Given the description of an element on the screen output the (x, y) to click on. 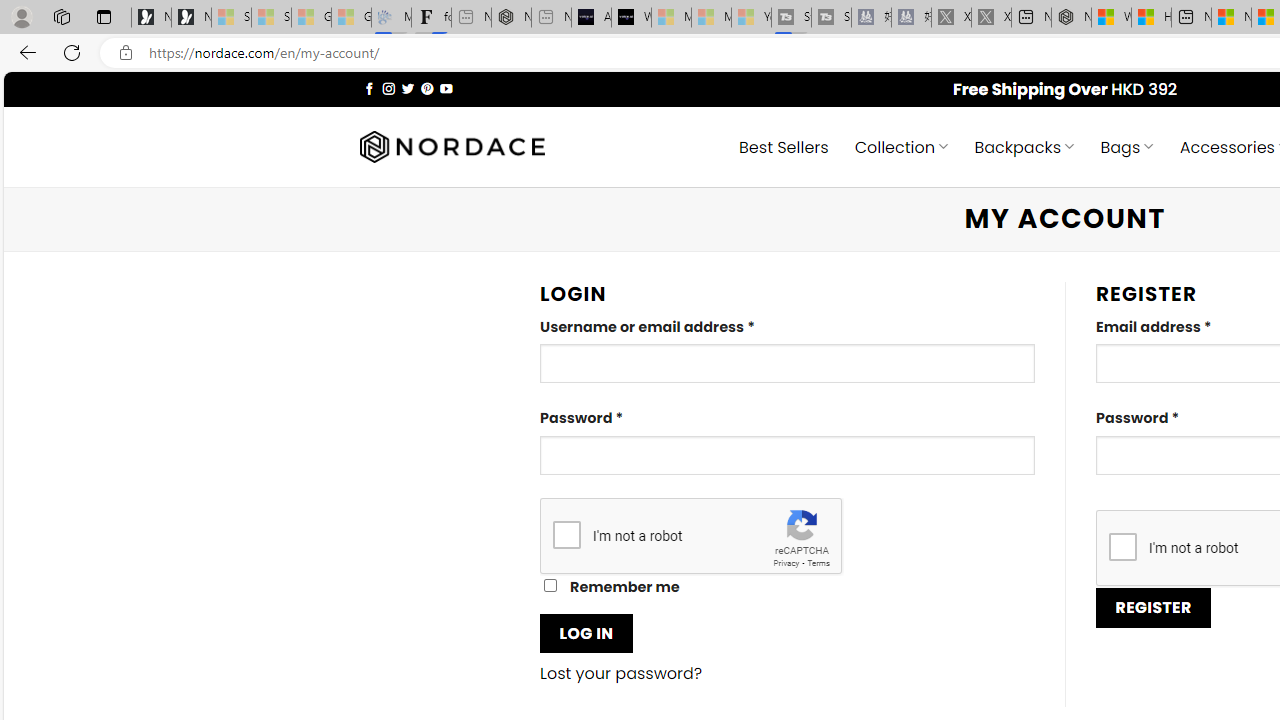
Follow on YouTube (446, 88)
 Best Sellers (783, 146)
Follow on Pinterest (427, 88)
Nordace - #1 Japanese Best-Seller - Siena Smart Backpack (511, 17)
